Given the description of an element on the screen output the (x, y) to click on. 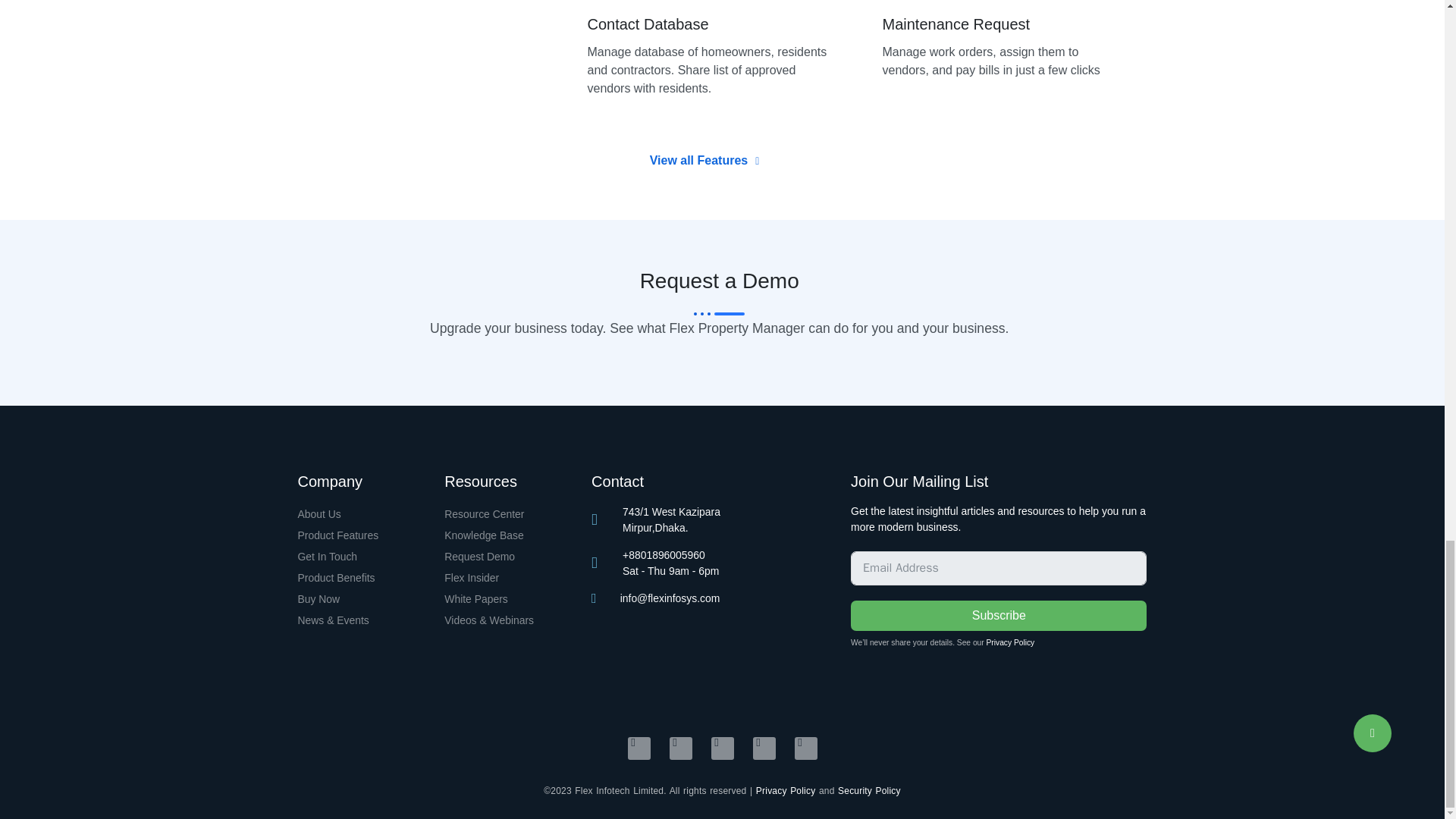
Buy Now (363, 599)
Get In Touch (363, 557)
View all Features (704, 160)
Product Features (363, 536)
Knowledge Base (510, 536)
Product Benefits (363, 578)
About Us (363, 514)
Resource Center (510, 514)
